Given the description of an element on the screen output the (x, y) to click on. 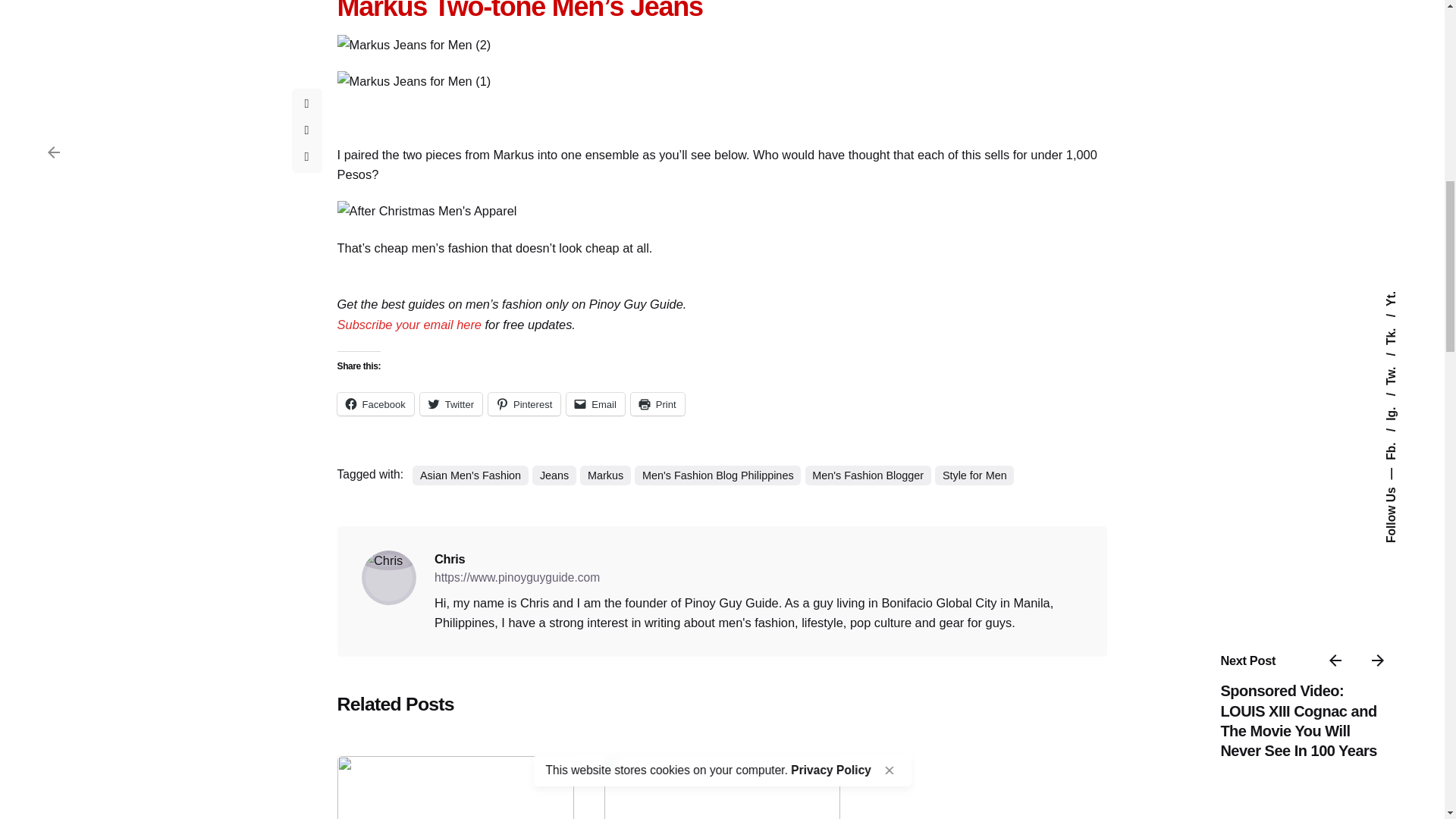
Click to share on Facebook (375, 404)
Click to share on Twitter (450, 404)
Click to share on Pinterest (523, 404)
Click to print (657, 404)
Click to email a link to a friend (595, 404)
